Given the description of an element on the screen output the (x, y) to click on. 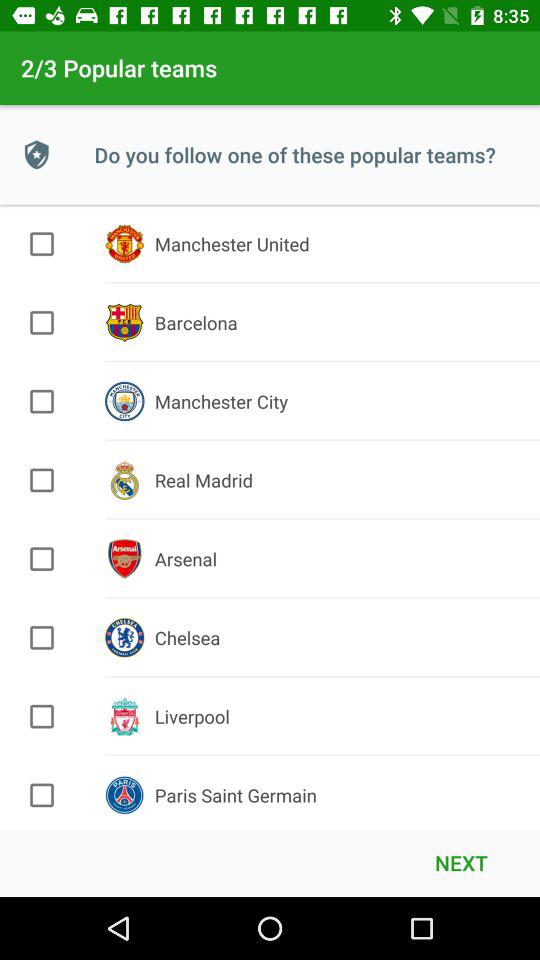
swipe to the next item (461, 862)
